Given the description of an element on the screen output the (x, y) to click on. 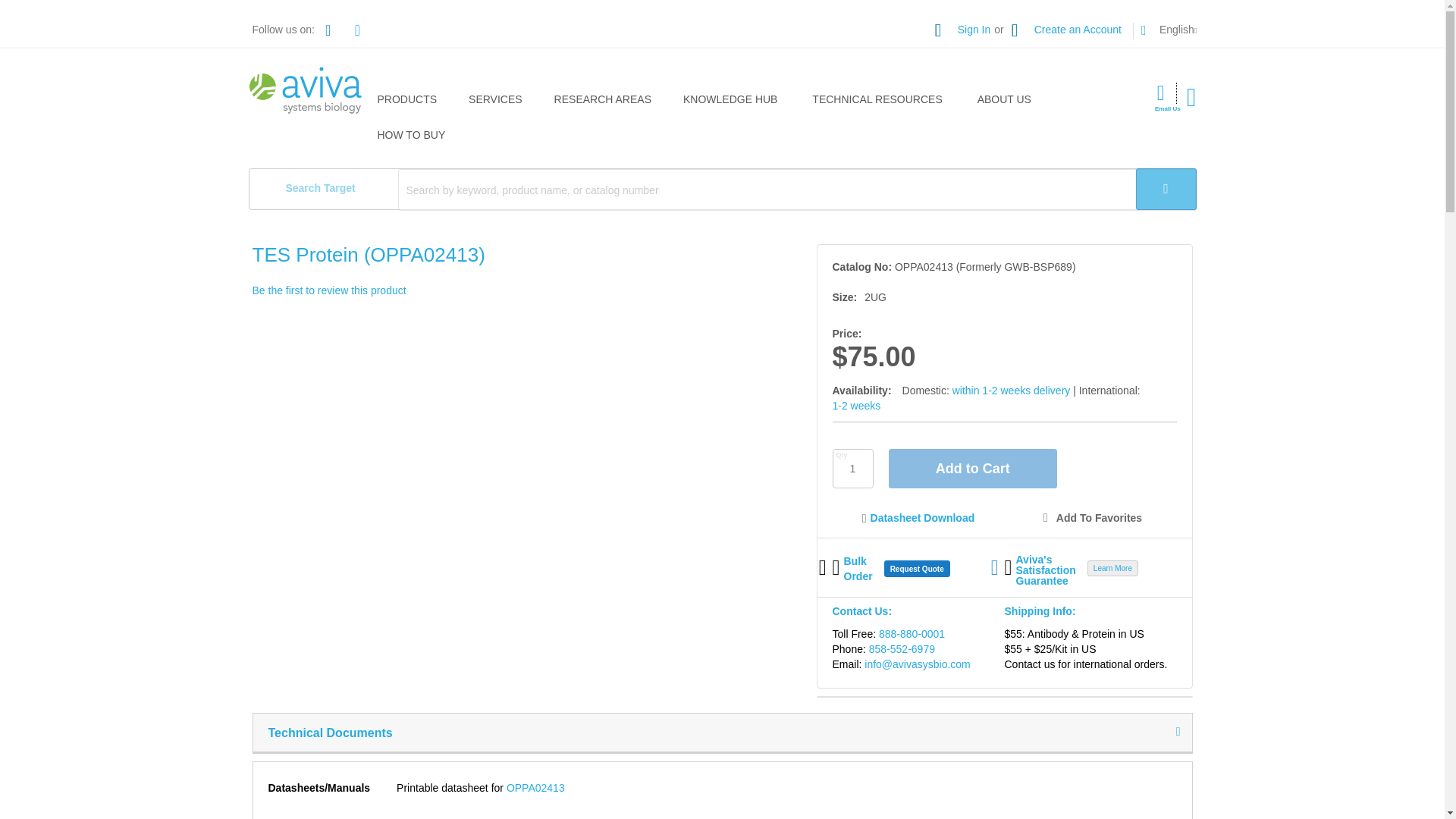
Add to Cart (972, 468)
Aviva Systems Biology (305, 90)
1 (852, 468)
Create an Account (1066, 29)
RESEARCH AREAS (605, 99)
SERVICES (498, 99)
Search (1165, 188)
Qty (852, 468)
OPPA02413 Datasheet (535, 787)
Sign In (962, 29)
